Given the description of an element on the screen output the (x, y) to click on. 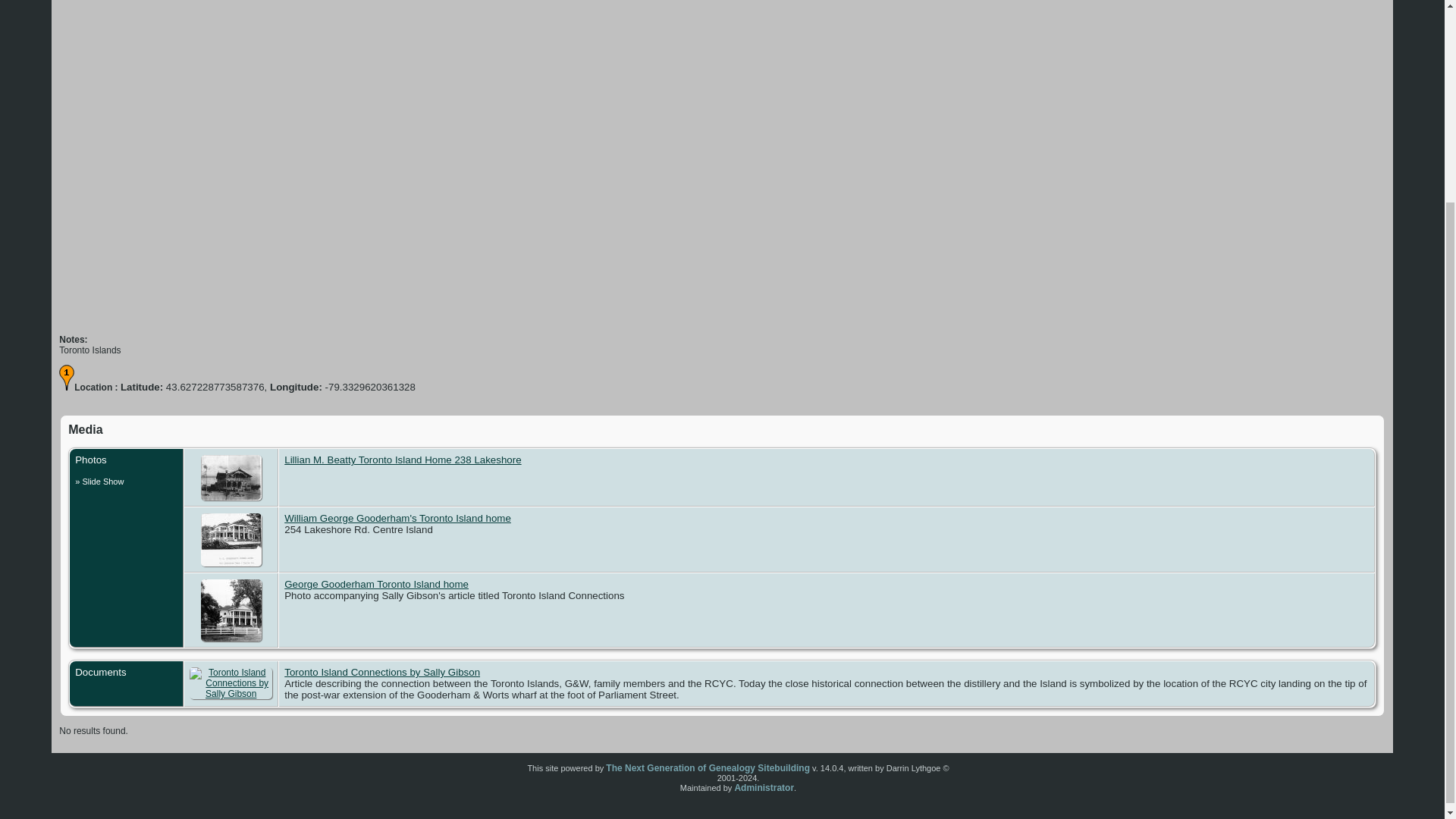
Learn more about TNG (707, 767)
RSS (501, 774)
William George Gooderham's Toronto Island home (231, 539)
Contact Us (763, 787)
George Gooderham Toronto Island home (231, 610)
Toronto Island Connections by Sally Gibson (230, 683)
